Given the description of an element on the screen output the (x, y) to click on. 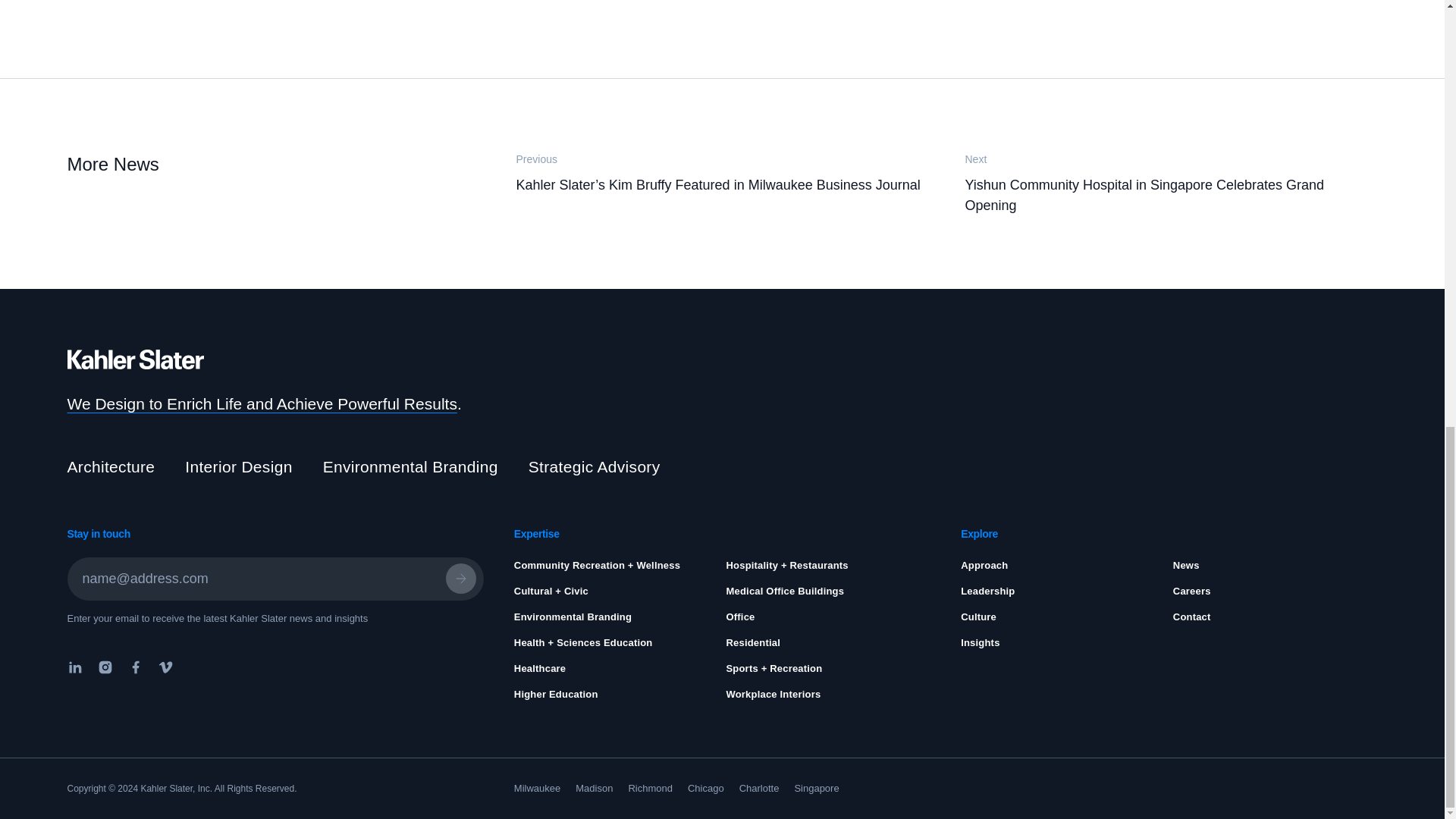
Facebook (134, 666)
We Design to Enrich Life and Achieve Powerful Results (261, 403)
LinkedIn (77, 666)
Higher Education (555, 694)
Environmental Branding (572, 616)
Healthcare (539, 668)
Vimeo (164, 666)
Instagram (103, 666)
Subscribe (460, 578)
